Given the description of an element on the screen output the (x, y) to click on. 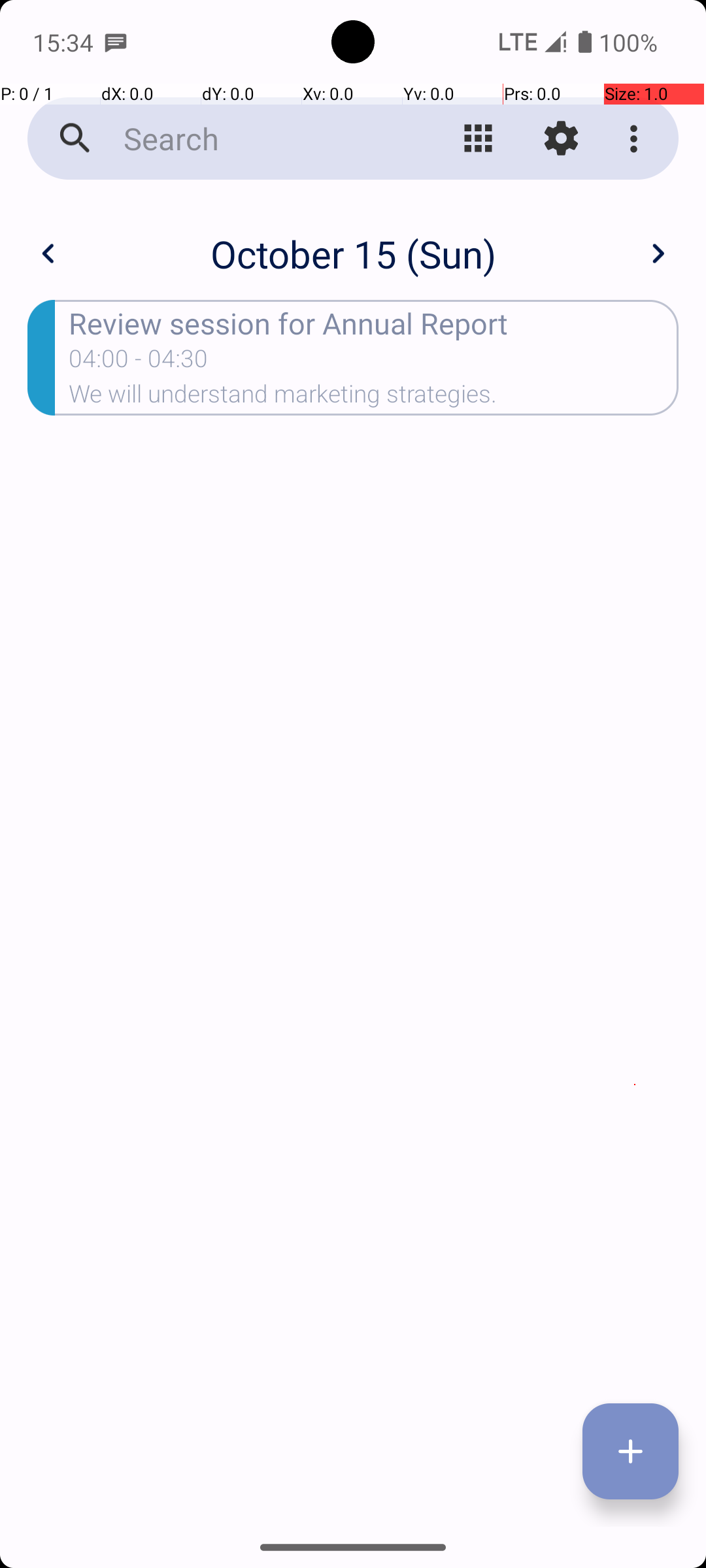
04:00 - 04:30 Element type: android.widget.TextView (137, 362)
We will understand marketing strategies. Element type: android.widget.TextView (373, 397)
